Given the description of an element on the screen output the (x, y) to click on. 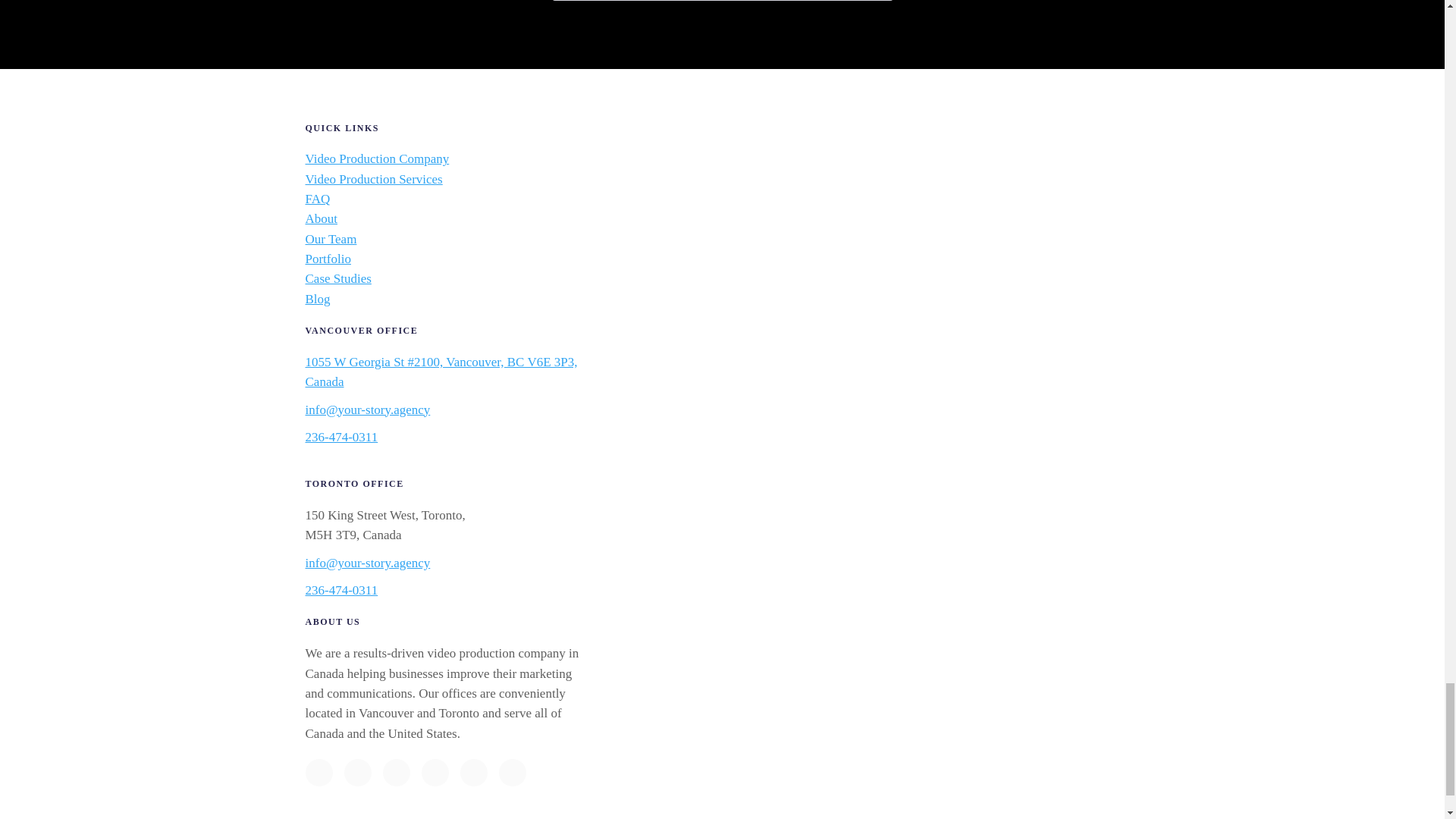
Case Studies (337, 278)
Our Team (330, 238)
Portfolio (327, 258)
FAQ (317, 198)
Video Production Services (373, 178)
Video Production Company (376, 158)
About (320, 218)
Blog (317, 298)
